Given the description of an element on the screen output the (x, y) to click on. 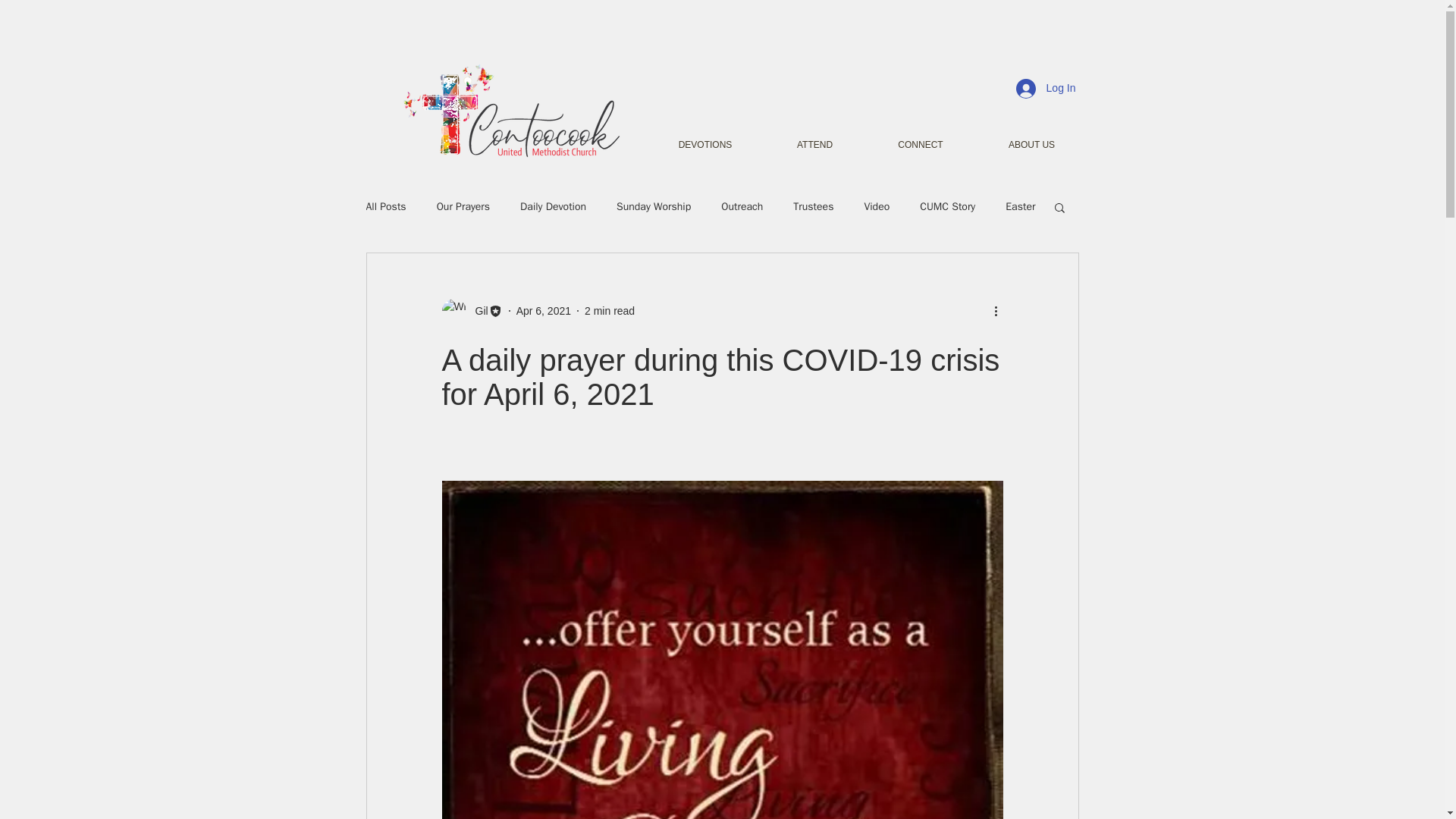
Video (876, 206)
Log In (1046, 88)
Gil (476, 311)
ABOUT US (1031, 145)
CUMC Story (947, 206)
2 min read (609, 310)
DEVOTIONS (704, 145)
Easter (1020, 206)
Sunday Worship (652, 206)
Outreach (741, 206)
